Given the description of an element on the screen output the (x, y) to click on. 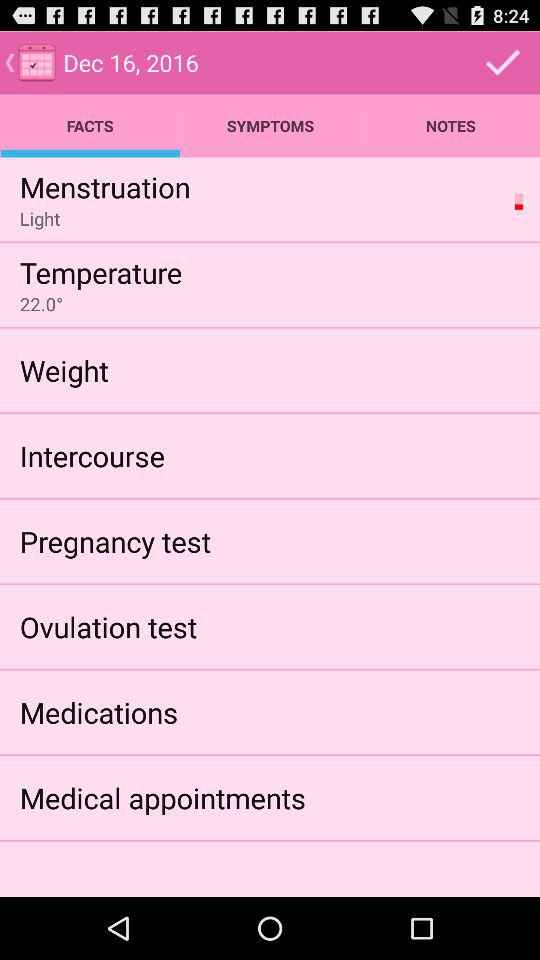
click icon above the weight item (41, 303)
